Given the description of an element on the screen output the (x, y) to click on. 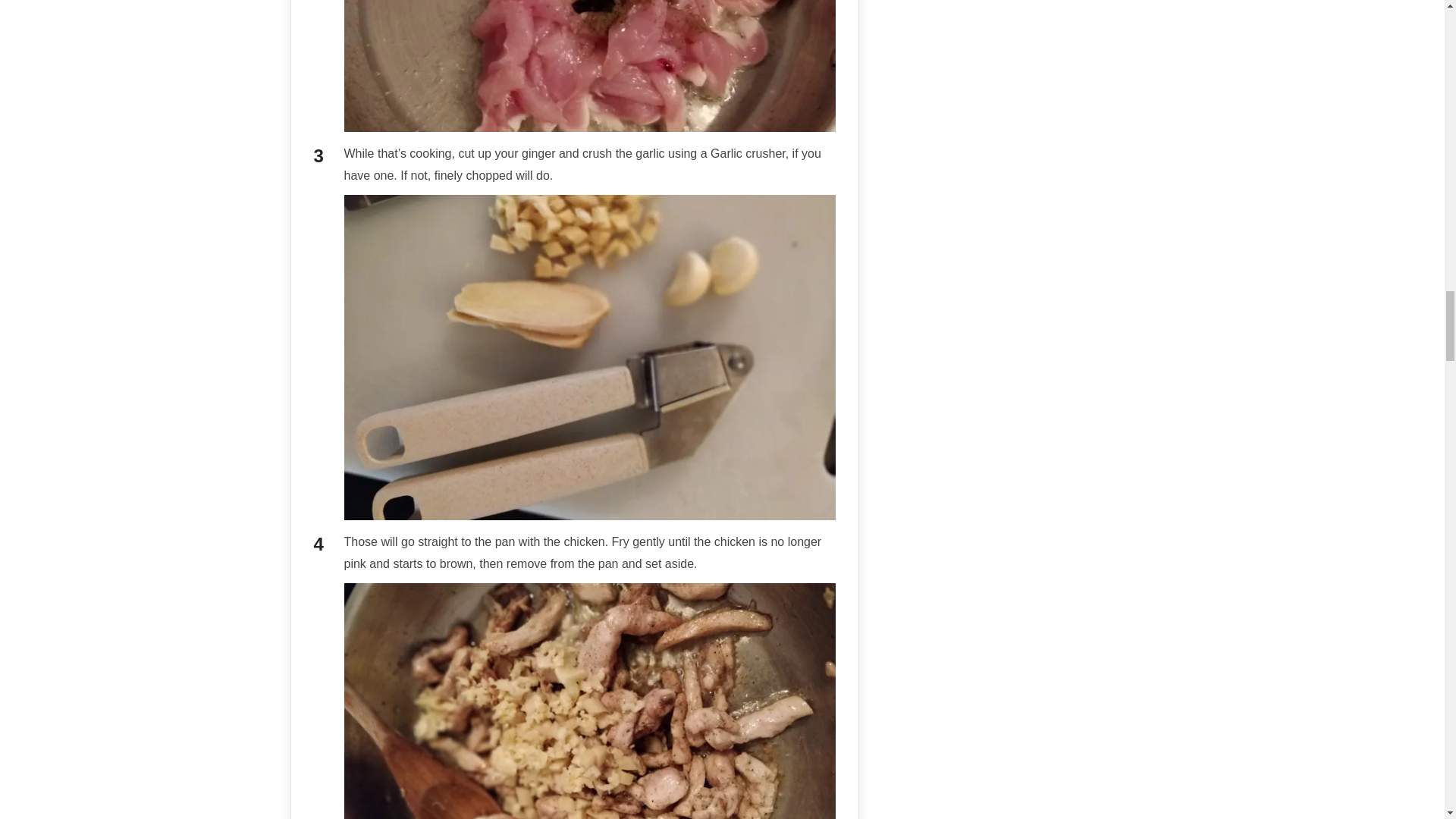
Chicken Stir Fry (589, 65)
Chicken Stir Fry (589, 701)
